Given the description of an element on the screen output the (x, y) to click on. 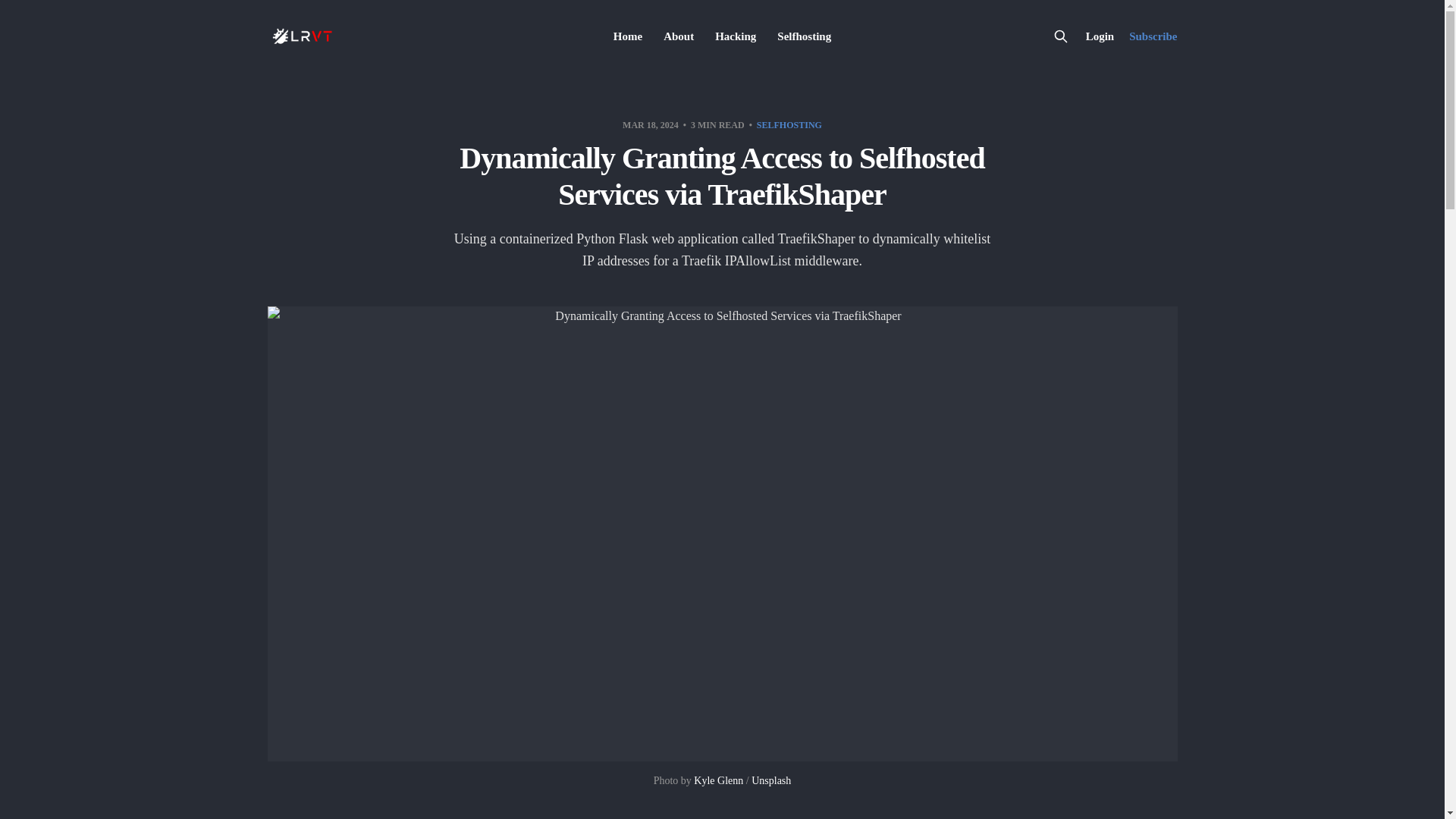
About (678, 36)
Subscribe (1152, 36)
Kyle Glenn (718, 780)
SELFHOSTING (789, 124)
Login (1100, 36)
Home (627, 36)
Selfhosting (804, 36)
Hacking (734, 36)
Unsplash (770, 780)
